Given the description of an element on the screen output the (x, y) to click on. 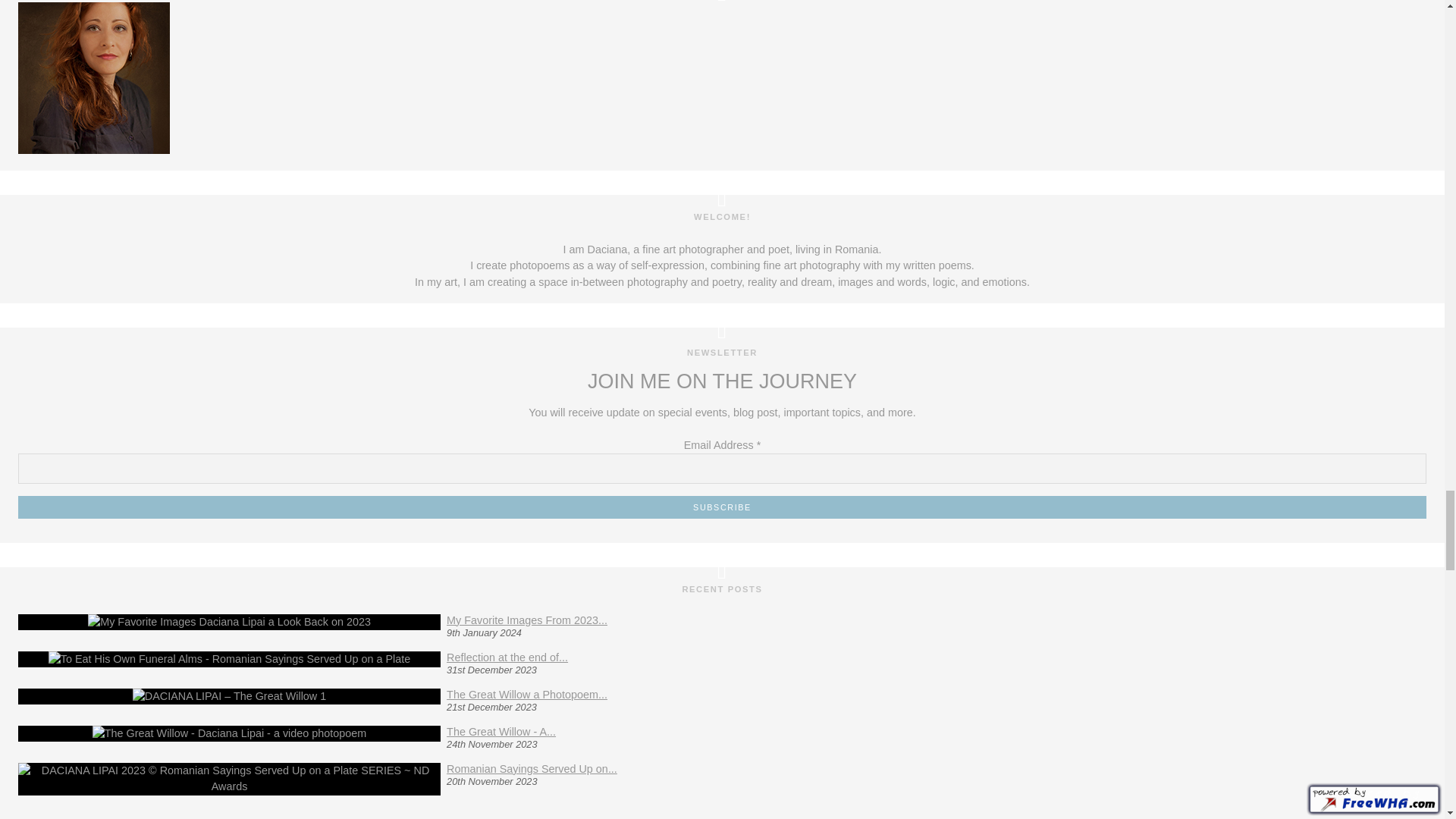
Look My Favorite Images From 2023 -  A Look Back on My Work (526, 620)
Subscribe (721, 507)
Look Reflection at the end of the year 2023 (506, 657)
